Given the description of an element on the screen output the (x, y) to click on. 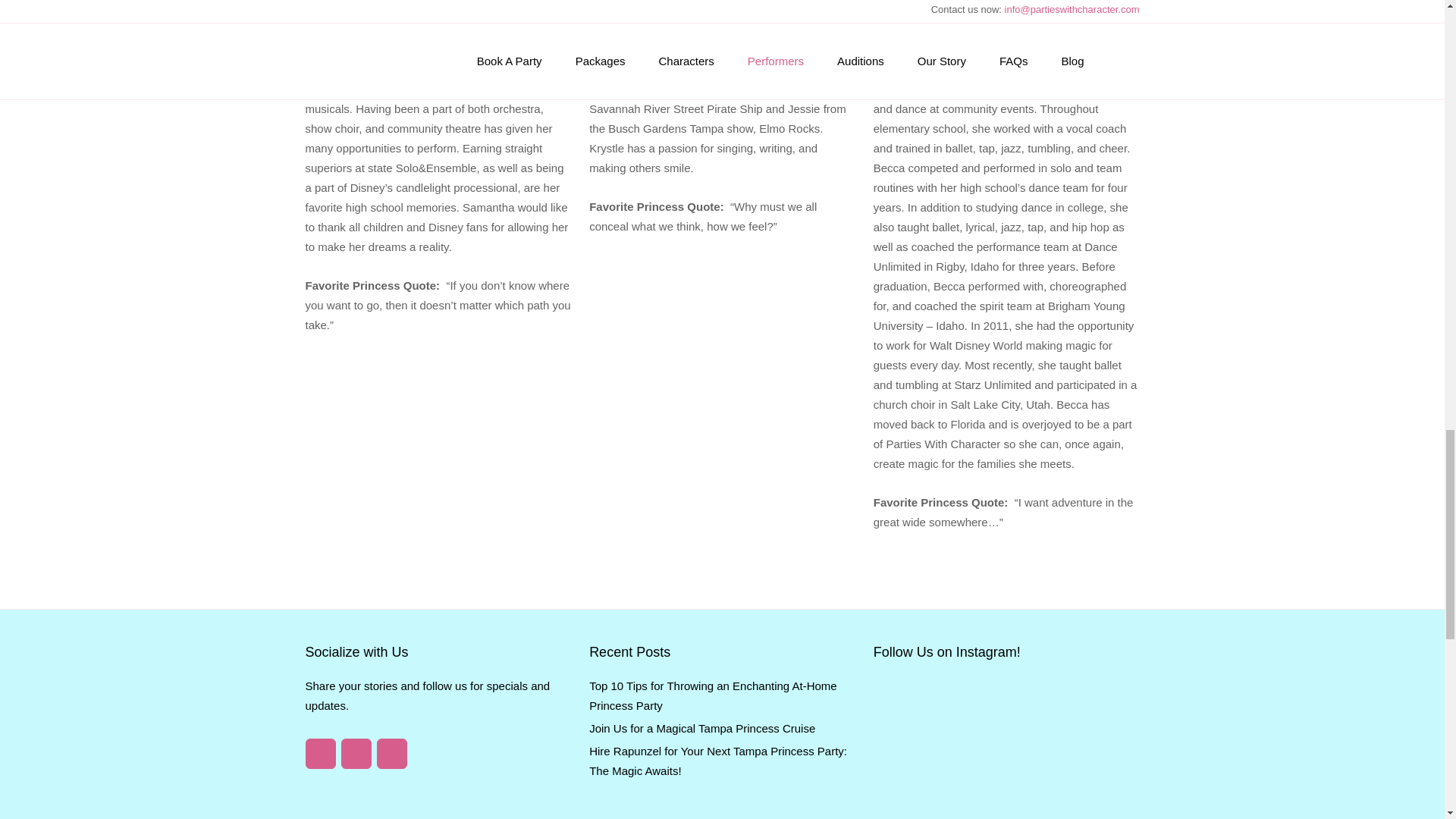
facebook (319, 753)
pinterest (355, 753)
Join Us for a Magical Tampa Princess Cruise (702, 727)
instagram (390, 753)
